Given the description of an element on the screen output the (x, y) to click on. 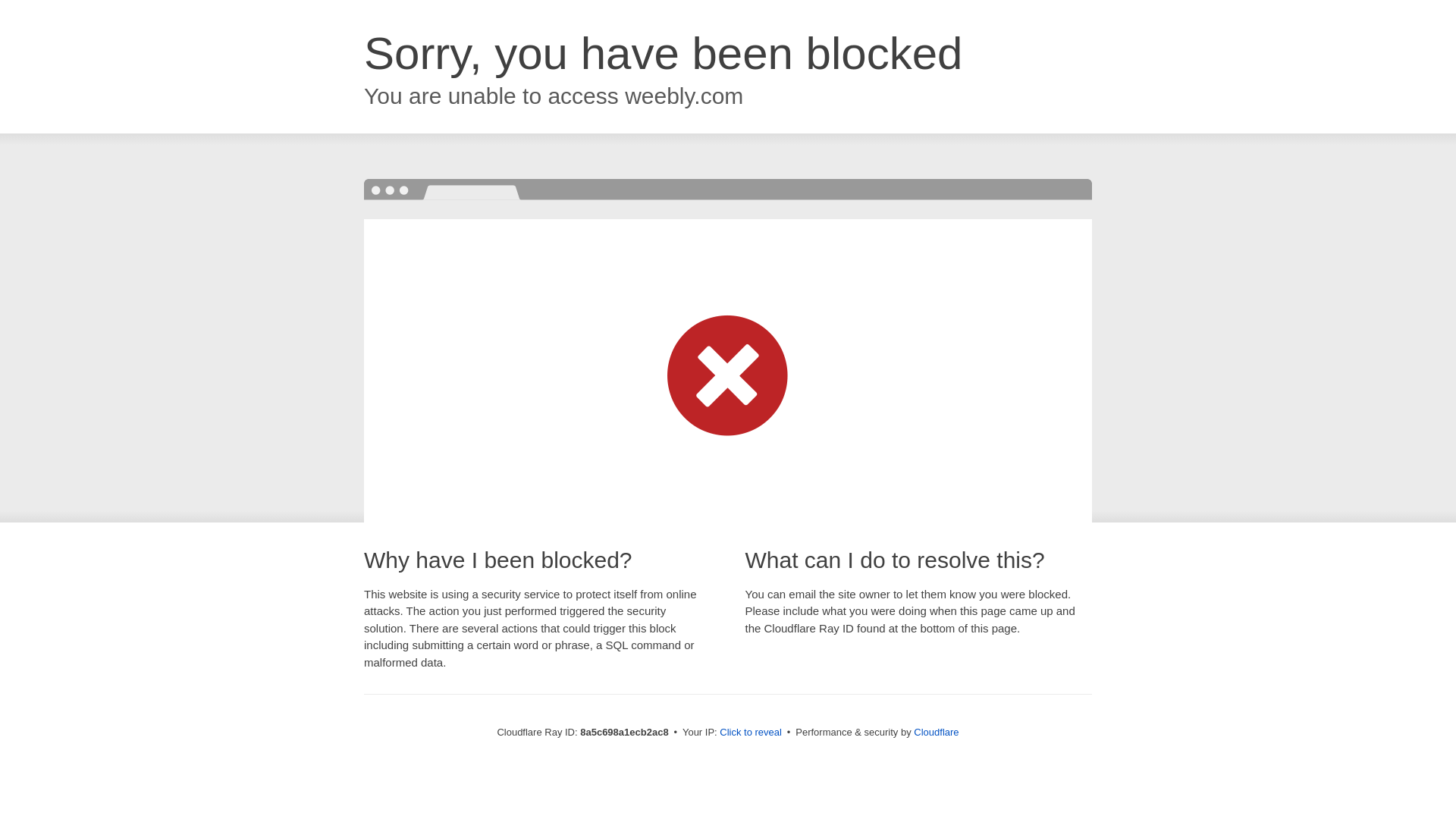
Cloudflare (936, 731)
Click to reveal (750, 732)
